Given the description of an element on the screen output the (x, y) to click on. 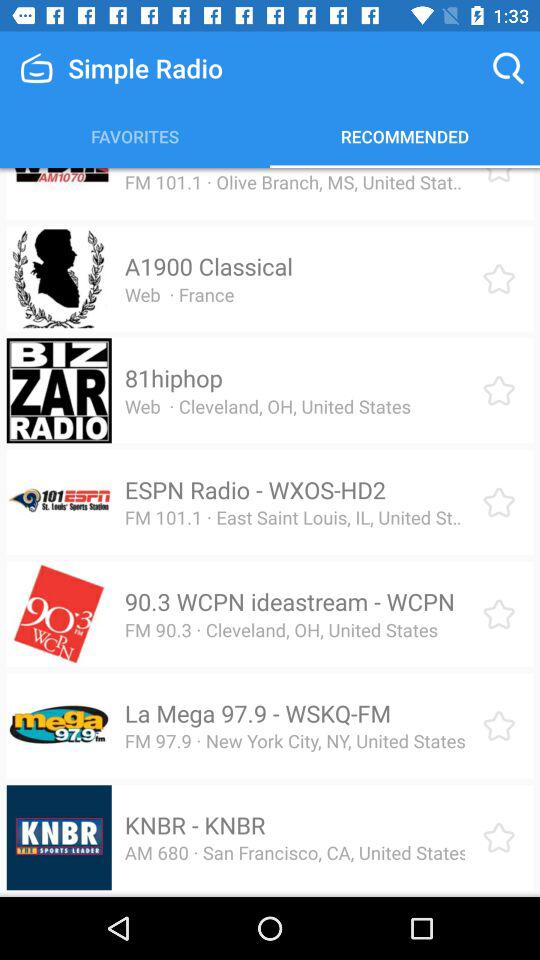
select the item above 81hiphop icon (179, 294)
